Given the description of an element on the screen output the (x, y) to click on. 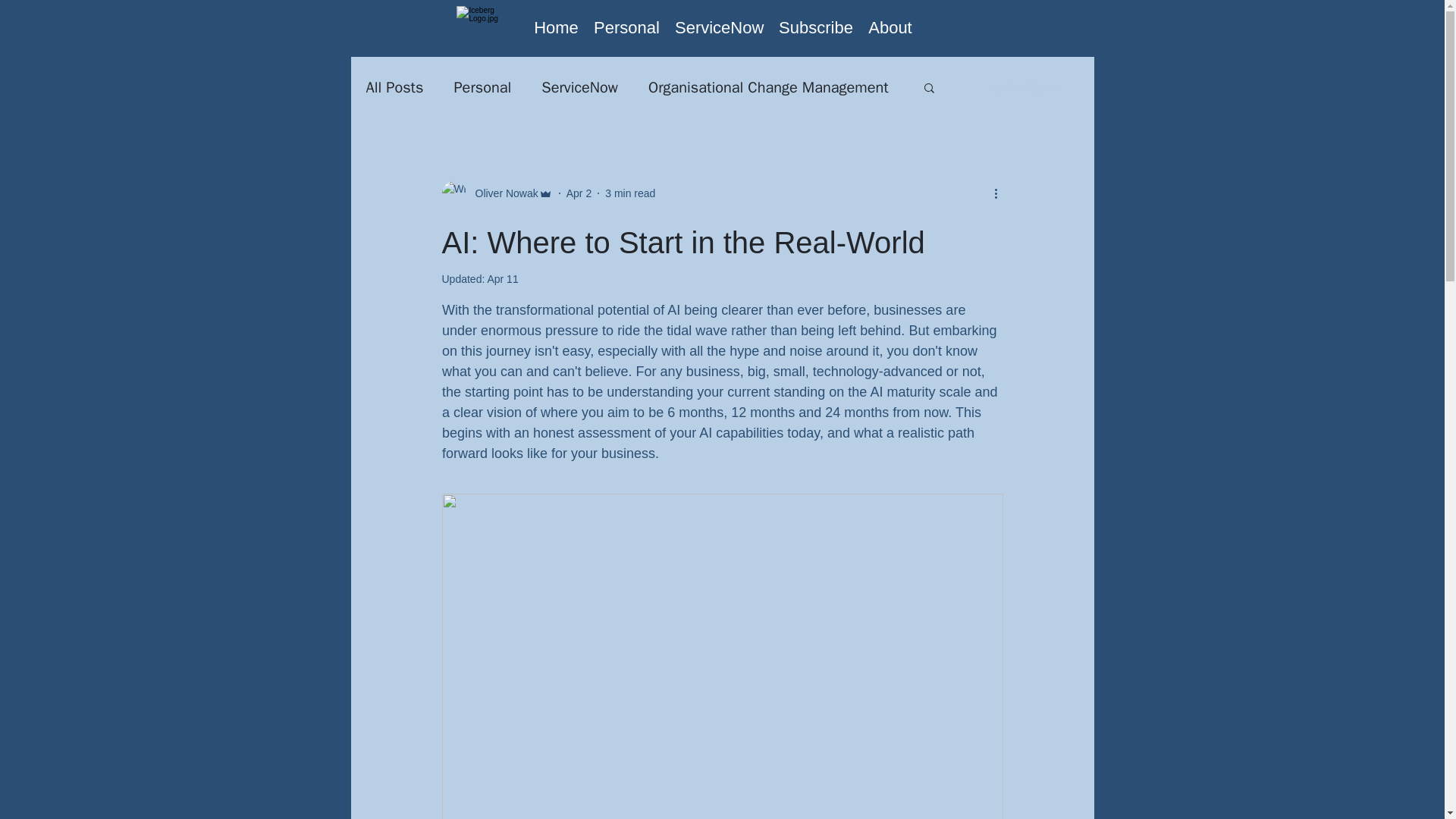
Personal (481, 86)
ServiceNow (579, 86)
Organisational Change Management (767, 86)
Subscribe (815, 27)
About (890, 27)
Home (555, 27)
Oliver Nowak (501, 192)
3 min read (630, 192)
ServiceNow (718, 27)
Apr 11 (502, 278)
